Given the description of an element on the screen output the (x, y) to click on. 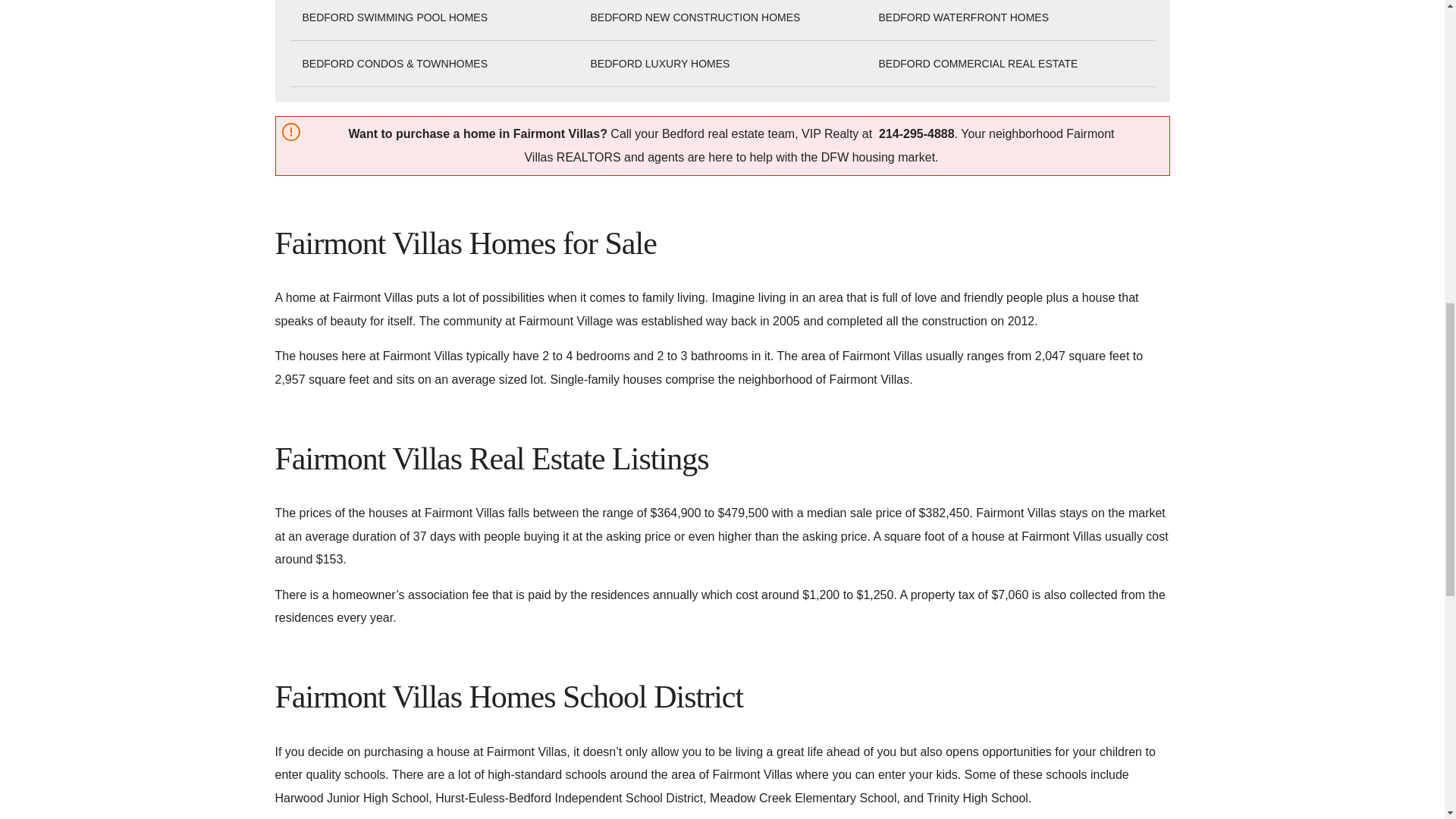
Bedford Condos Townhomes (394, 64)
Bedford Lakefront Homes (962, 17)
Frisco commercial real esate (977, 64)
Bedford New Construction Homes (694, 17)
Bedford Swimming Pool Homes (394, 17)
Bedford Luxury Homes (659, 64)
